Given the description of an element on the screen output the (x, y) to click on. 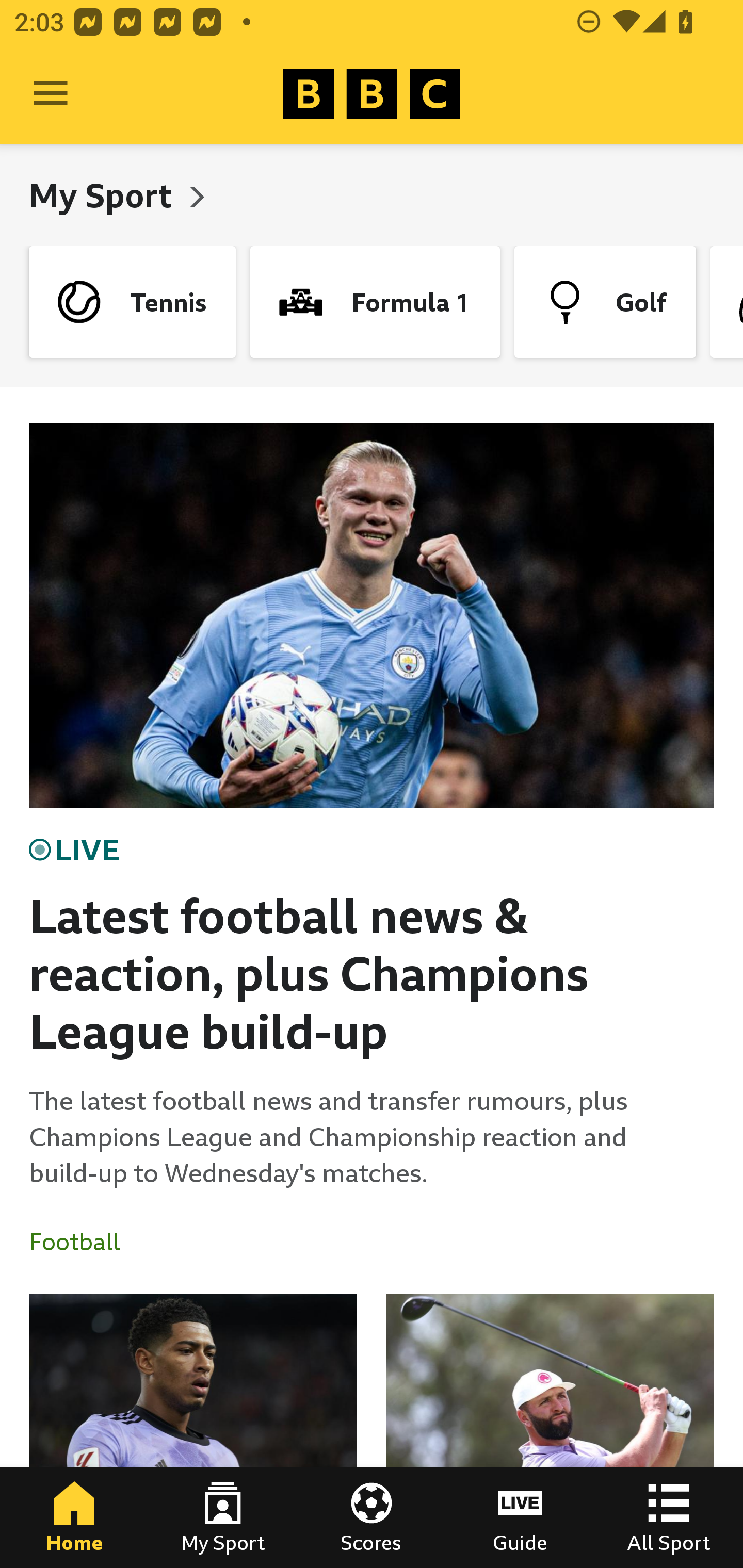
Open Menu (50, 93)
My Sport (104, 195)
Football In the section Football (81, 1241)
Real midfielder Bellingham banned for two games (192, 1430)
My Sport (222, 1517)
Scores (371, 1517)
Guide (519, 1517)
All Sport (668, 1517)
